Given the description of an element on the screen output the (x, y) to click on. 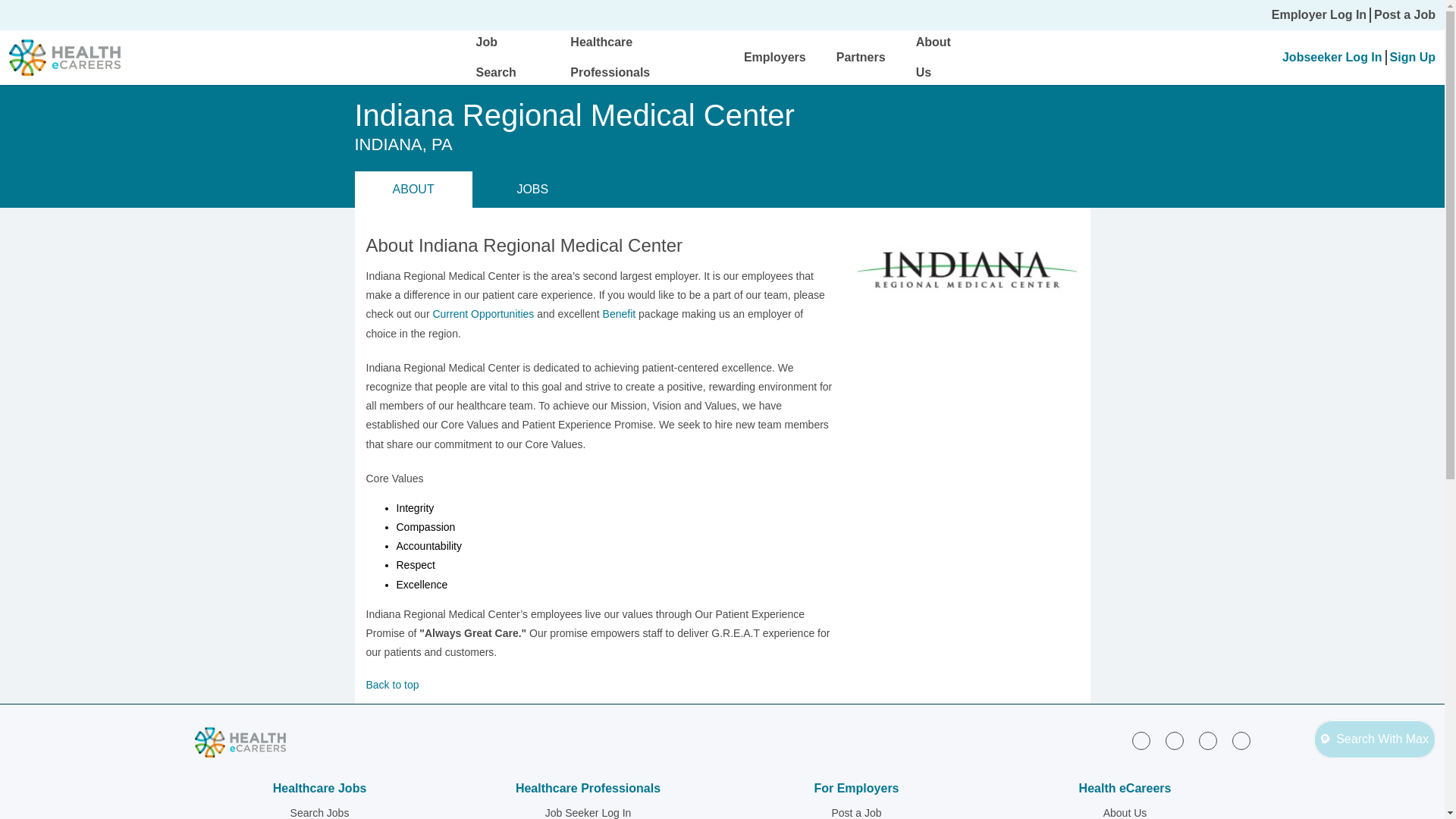
Search With Max (1374, 739)
Back to top (598, 684)
linkedin (1140, 741)
twitter (1206, 741)
Healthcare Professionals (609, 57)
Job Search (496, 57)
facebook (1173, 741)
Post a Job (1404, 14)
Employers (775, 56)
youtube (1240, 741)
Employer Log In (1319, 14)
Benefits (619, 313)
Current Opportunities (483, 313)
